Given the description of an element on the screen output the (x, y) to click on. 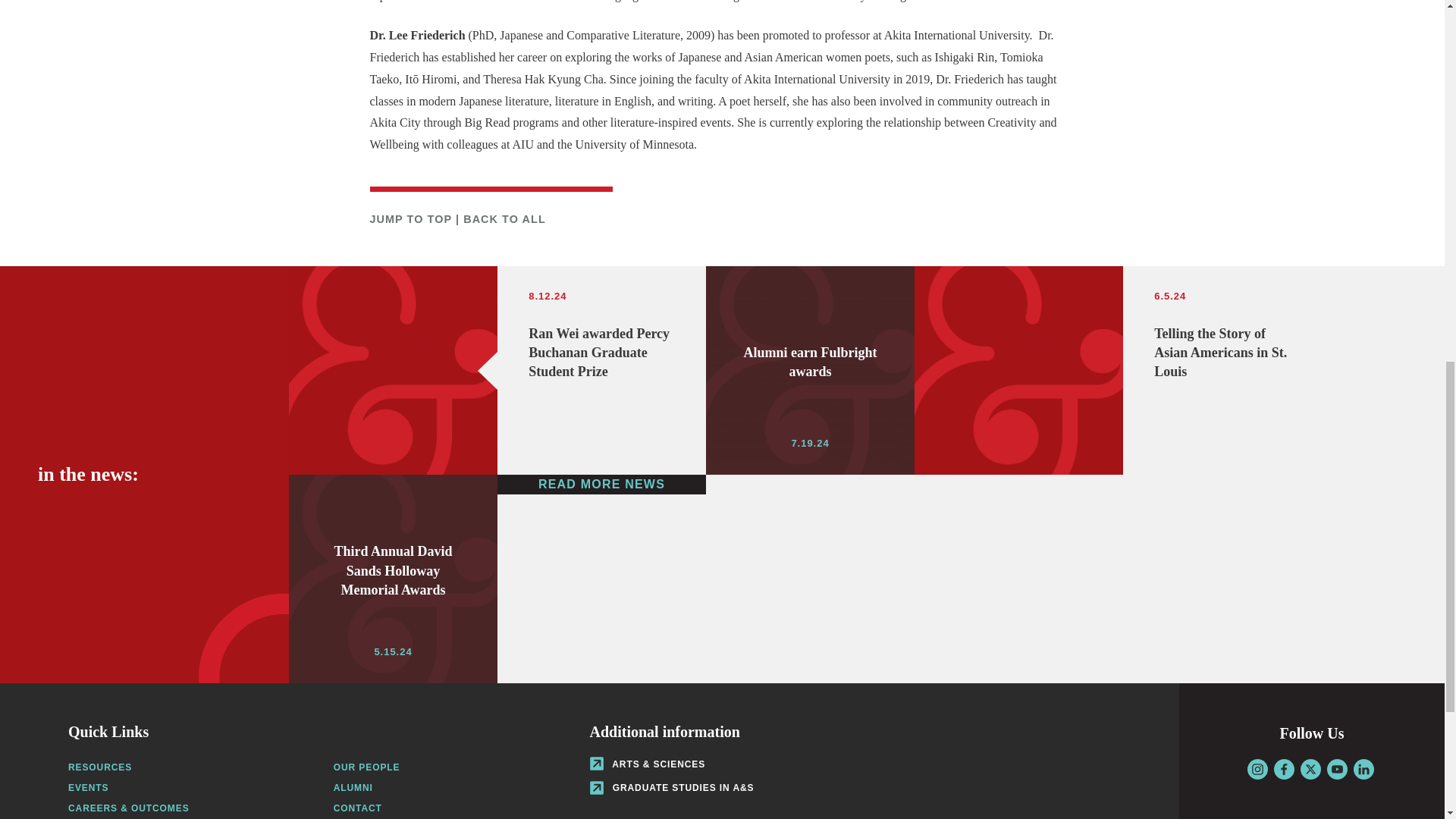
ALUMNI (352, 787)
Twitter (1310, 769)
Instagram (1256, 769)
OUR PEOPLE (366, 767)
JUMP TO TOP (410, 218)
BACK TO ALL (504, 218)
Facebook (1284, 769)
RESOURCES (100, 767)
READ MORE NEWS (601, 484)
